Given the description of an element on the screen output the (x, y) to click on. 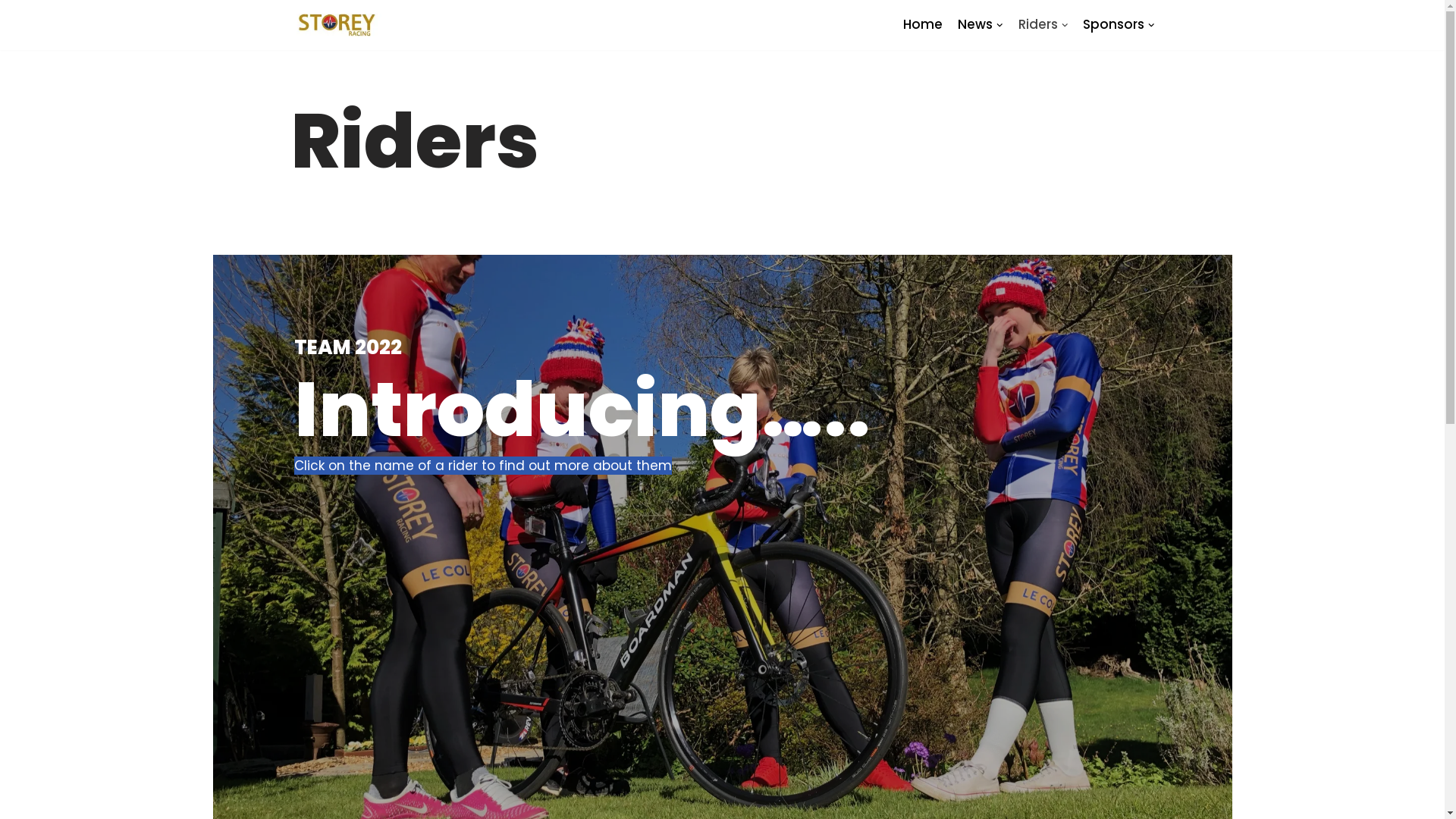
Home Element type: text (922, 24)
Storey Racing RT Element type: hover (334, 24)
News Element type: text (980, 24)
Riders Element type: text (1042, 24)
Skip to content Element type: text (11, 31)
Sponsors Element type: text (1118, 24)
